Given the description of an element on the screen output the (x, y) to click on. 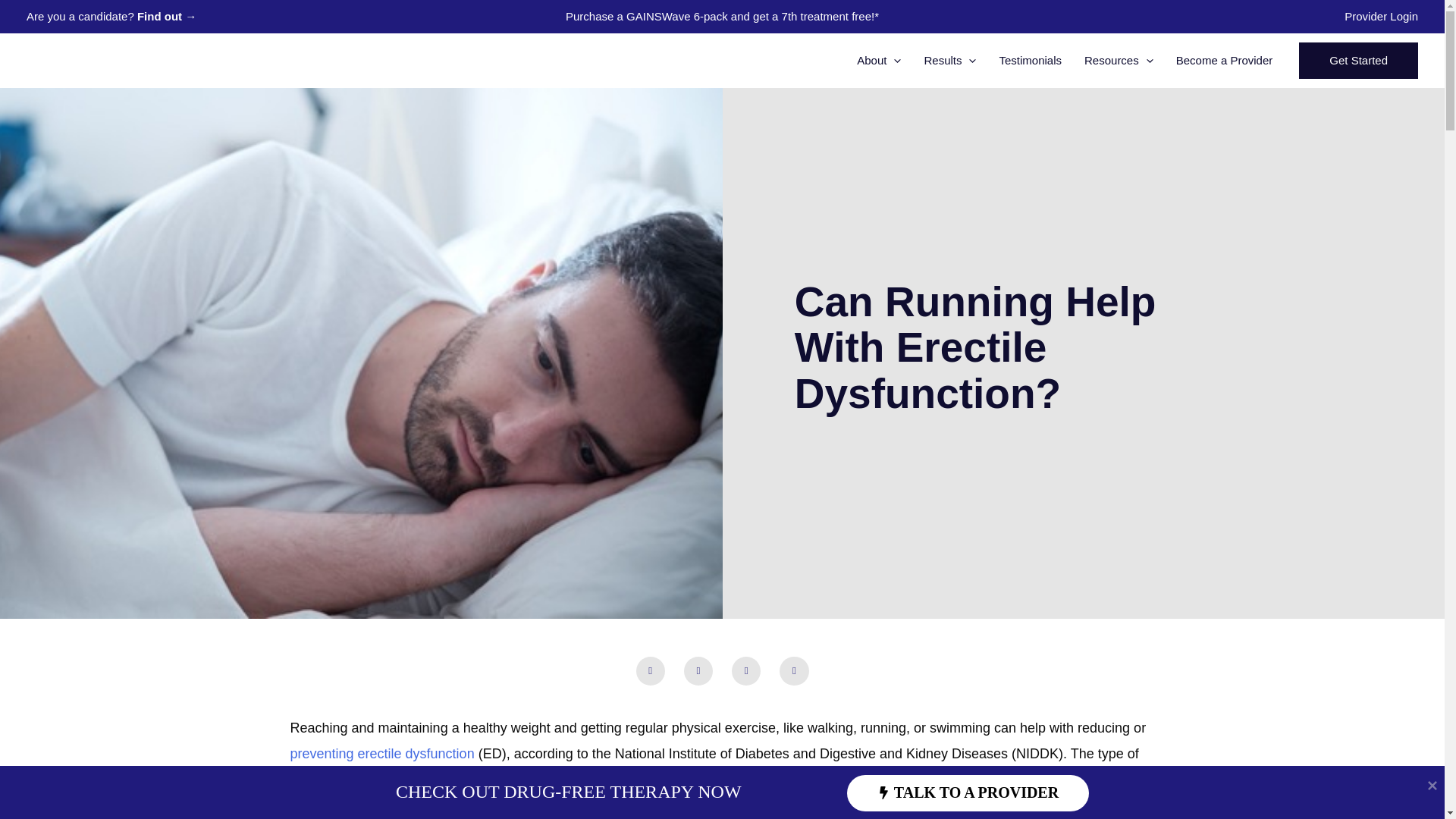
Get Started (1358, 60)
About (878, 60)
Resources (1118, 60)
Results (949, 60)
Become a Provider (1224, 60)
Testimonials (1030, 60)
Provider Login (1380, 15)
